Given the description of an element on the screen output the (x, y) to click on. 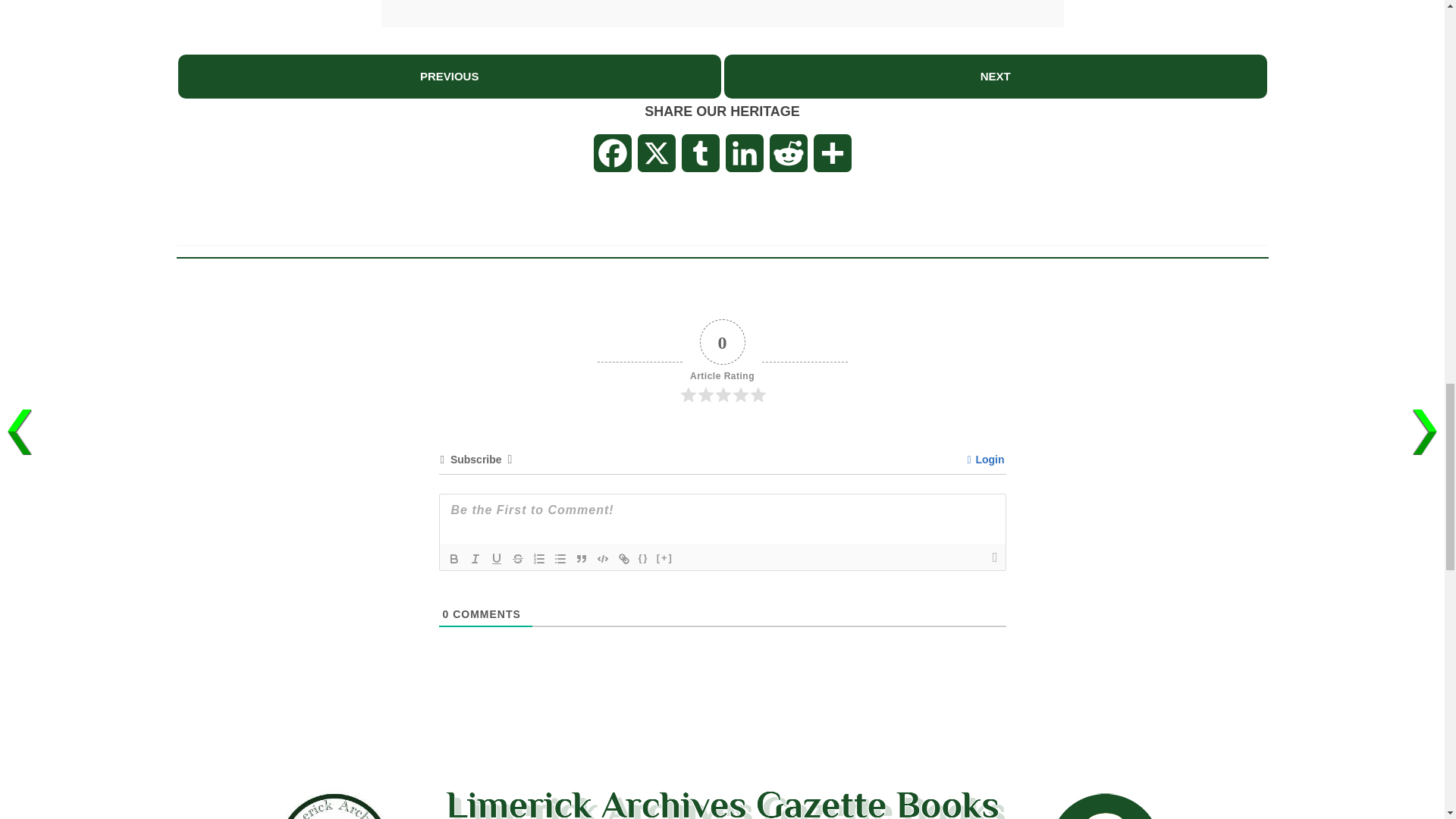
PREVIOUS (449, 75)
Electric Lights to Illuminate Limerick Soon (995, 75)
Italic (474, 558)
Bold (453, 558)
PREVIOUS (448, 76)
Strike (516, 558)
Ordered List (537, 558)
Underline (495, 558)
NEXT (995, 75)
Unordered List (559, 558)
